Given the description of an element on the screen output the (x, y) to click on. 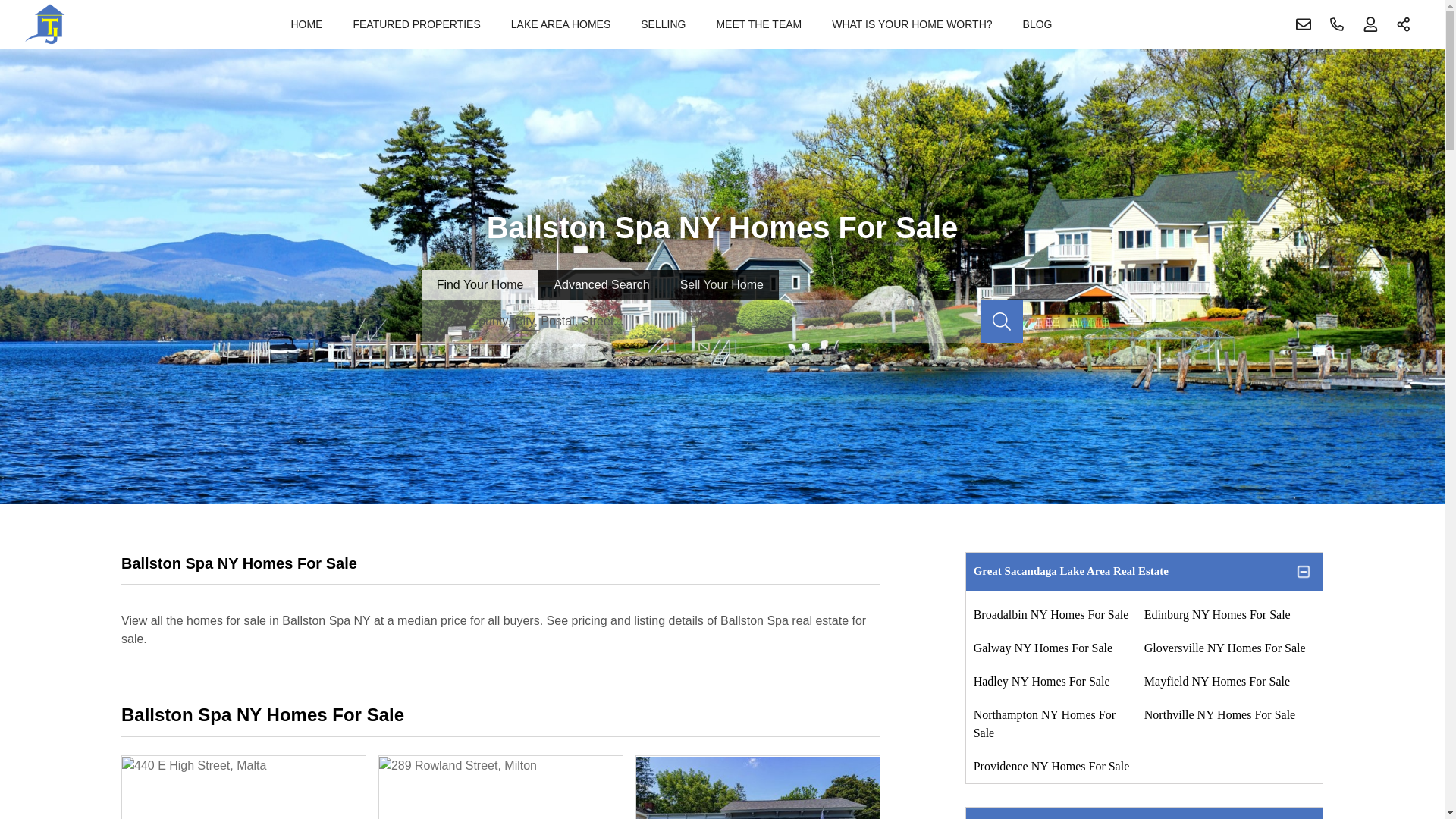
MEET THE TEAM (758, 24)
SELLING (662, 24)
Sign up or Sign in (1370, 23)
WHAT IS YOUR HOME WORTH? (911, 24)
HOME (306, 24)
Thomas J. Real Estate, Inc. (44, 24)
FEATURED PROPERTIES (416, 24)
Phone number (1337, 23)
LAKE AREA HOMES (561, 24)
Share (1404, 23)
